Given the description of an element on the screen output the (x, y) to click on. 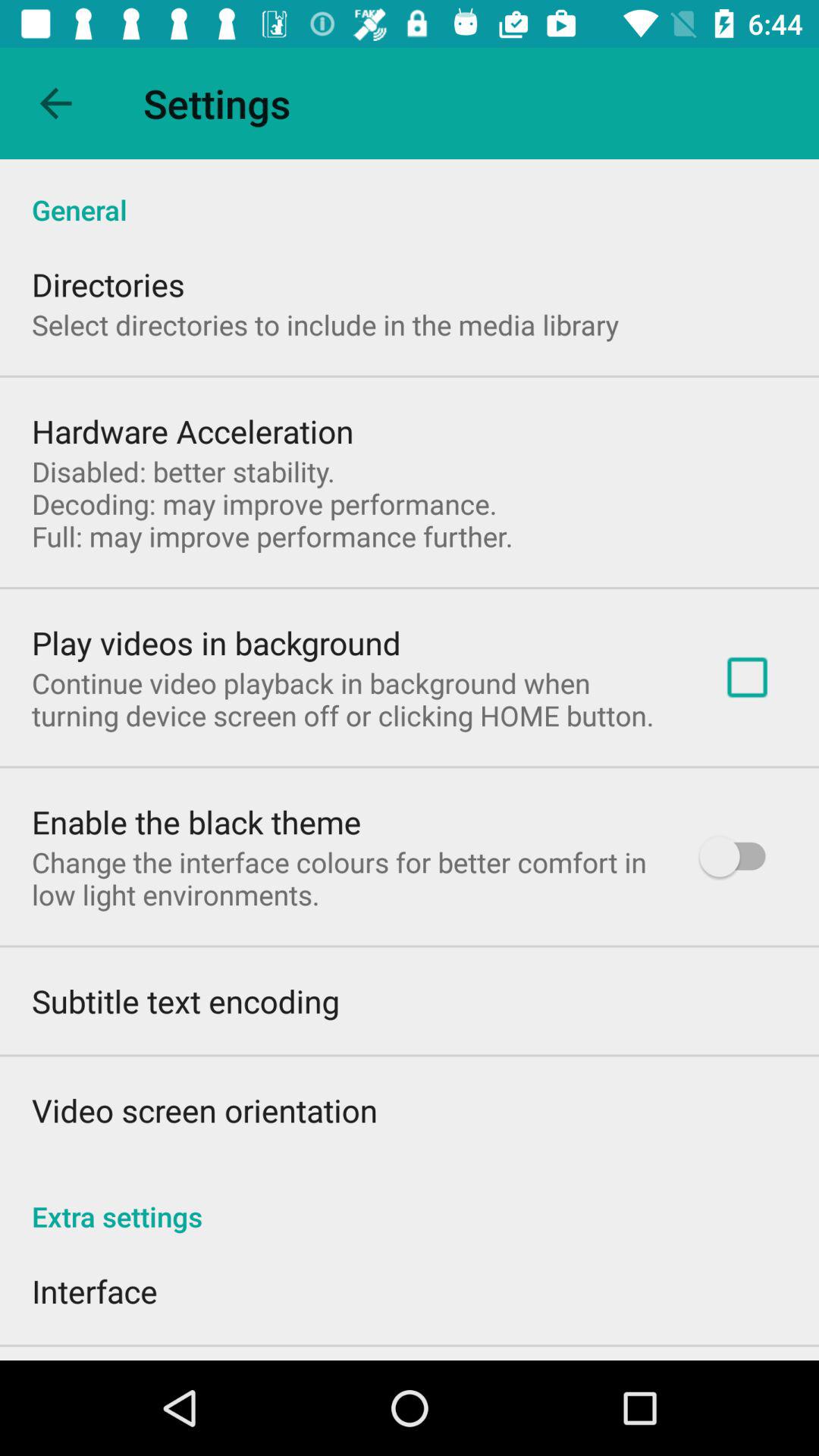
open the change the interface icon (345, 878)
